Given the description of an element on the screen output the (x, y) to click on. 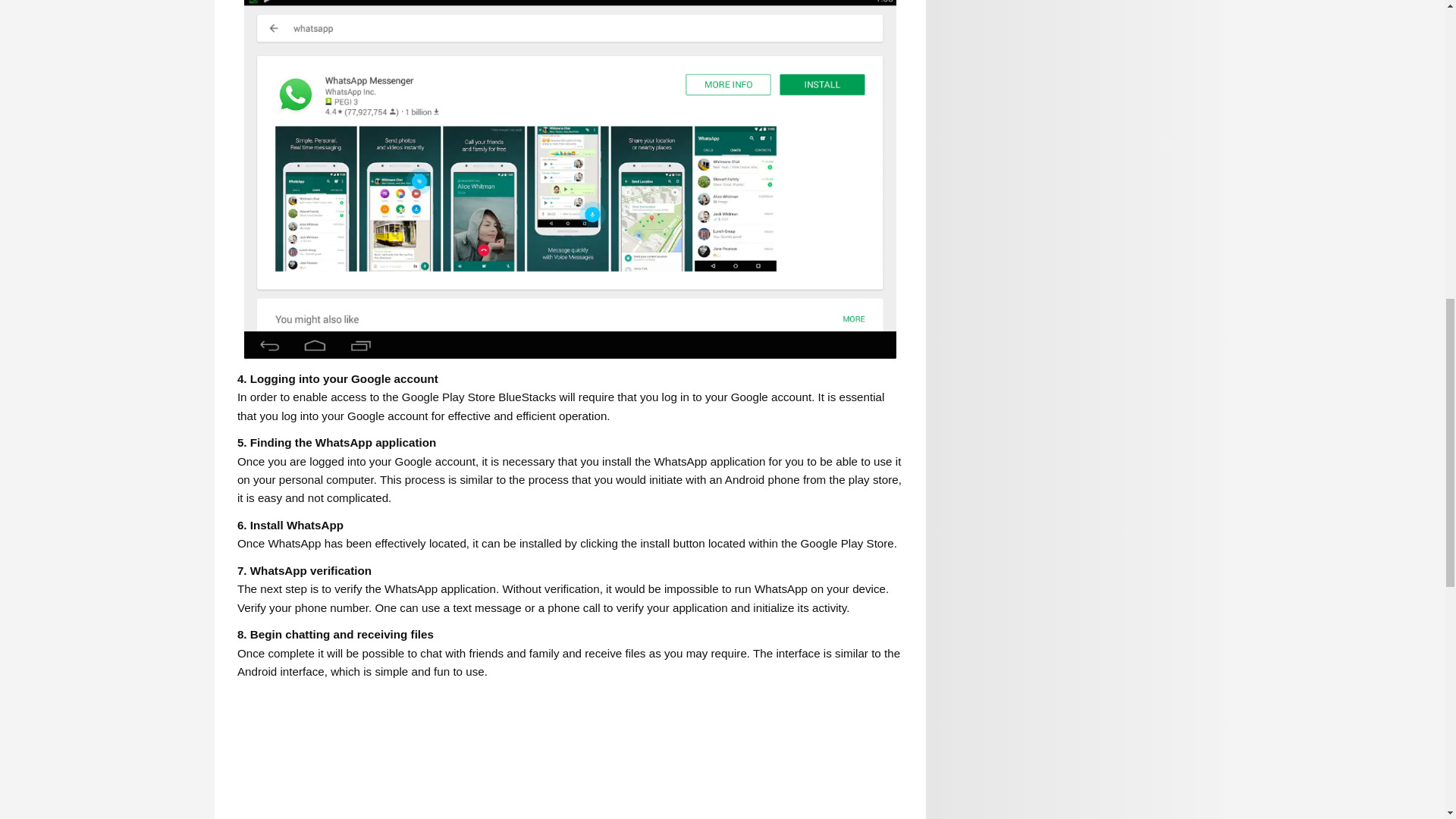
Advertisement (692, 754)
